Given the description of an element on the screen output the (x, y) to click on. 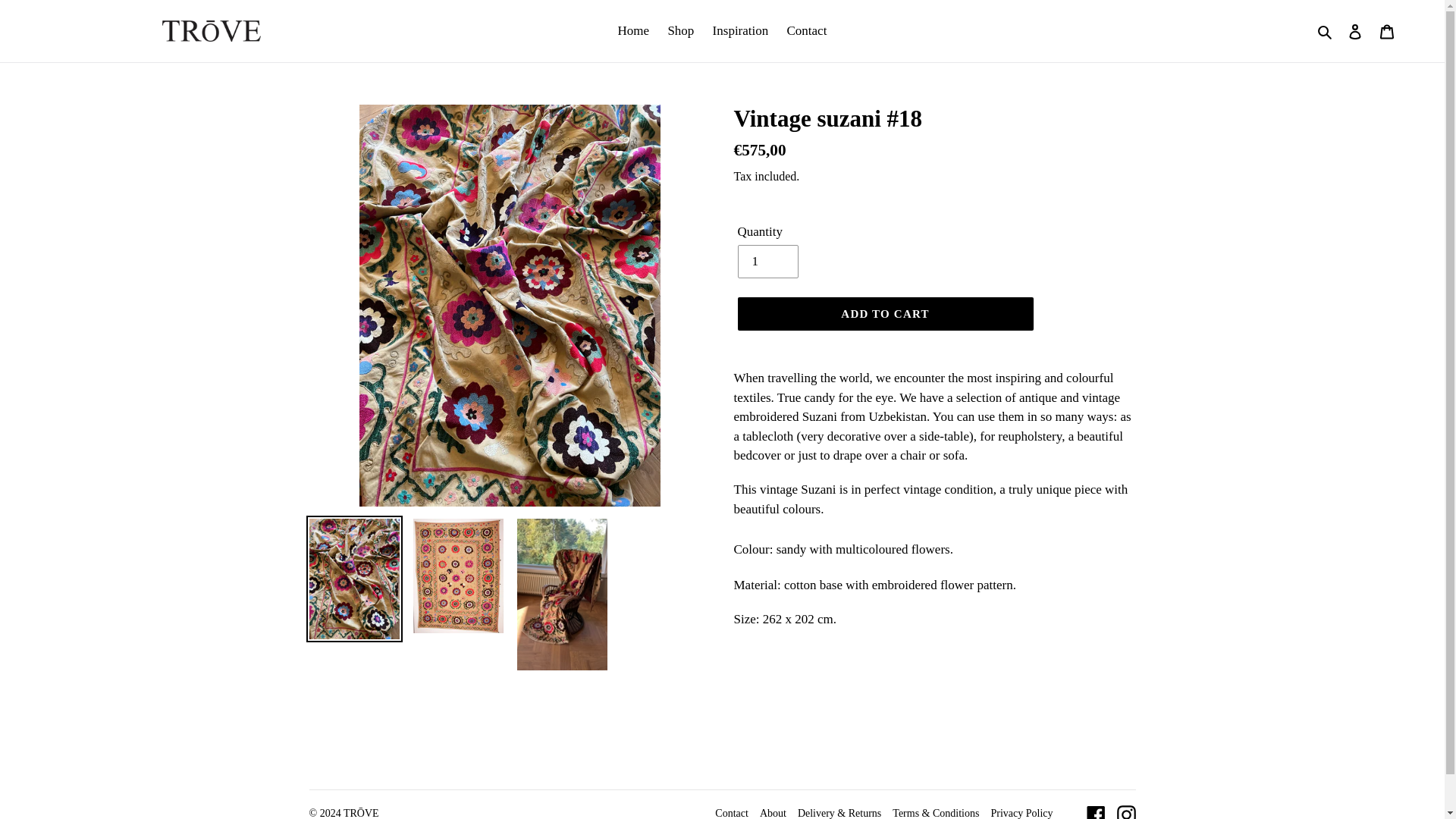
About (773, 813)
Facebook (1095, 812)
Contact (731, 813)
1 (766, 261)
Privacy Policy (1021, 813)
Instagram (1125, 812)
Log in (1355, 30)
Home (634, 30)
Shop (680, 30)
Cart (1387, 30)
